Given the description of an element on the screen output the (x, y) to click on. 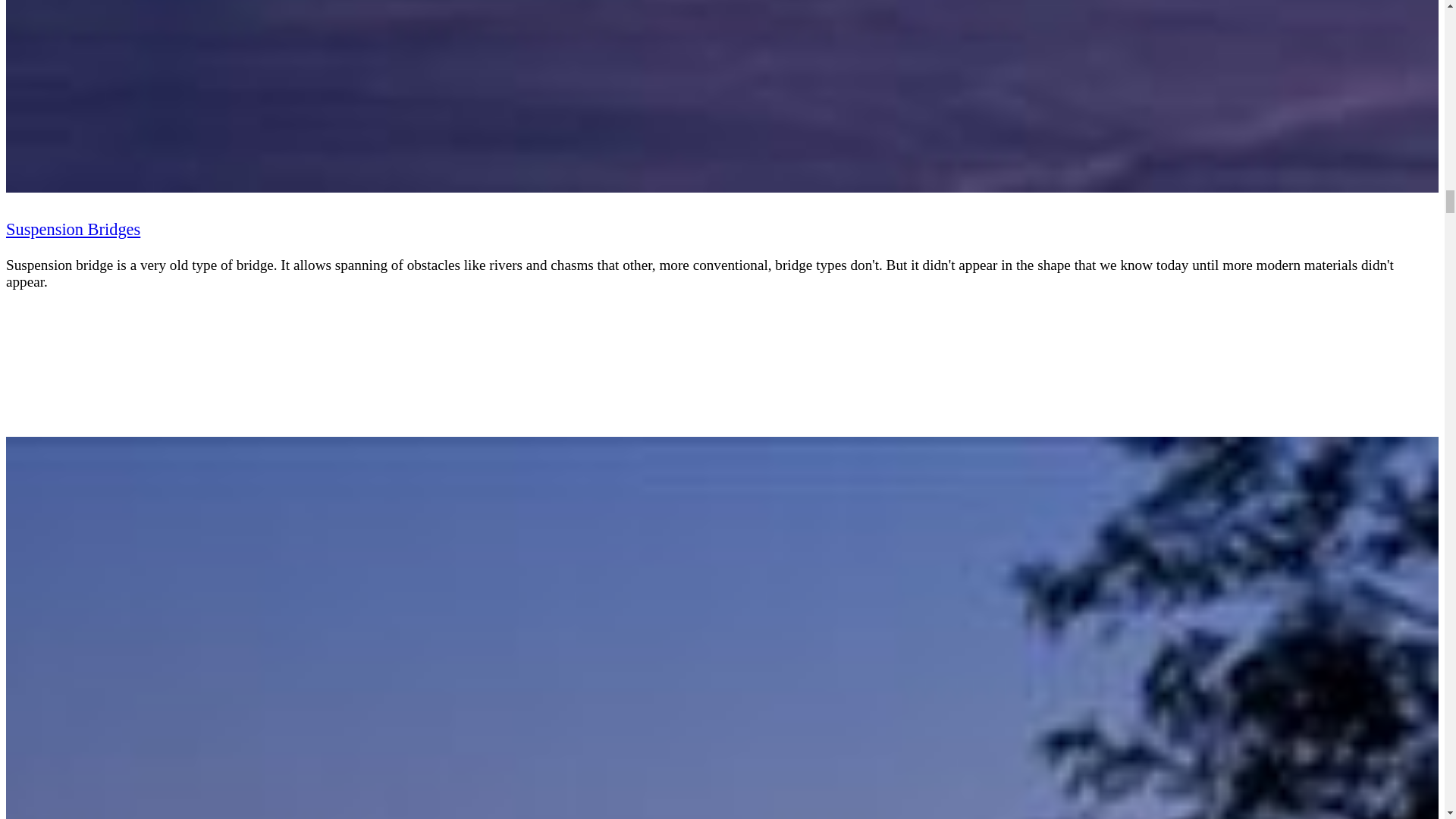
Suspension Bridges (72, 229)
